Given the description of an element on the screen output the (x, y) to click on. 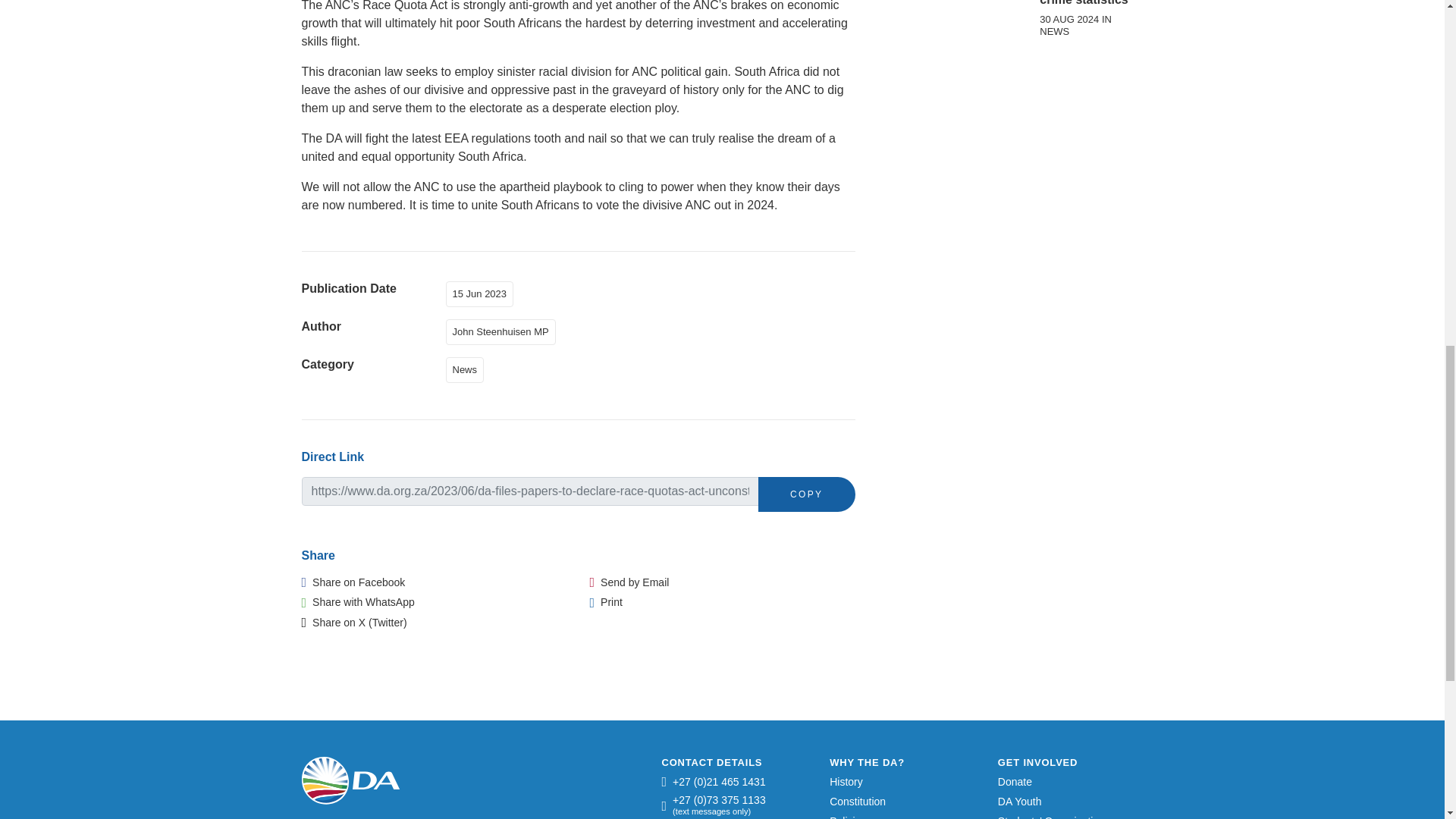
News (467, 368)
COPY (807, 493)
Share on Facebook (353, 581)
Share with WhatsApp (357, 602)
Democratic Alliance Logo (350, 780)
Send by Email (629, 581)
